Given the description of an element on the screen output the (x, y) to click on. 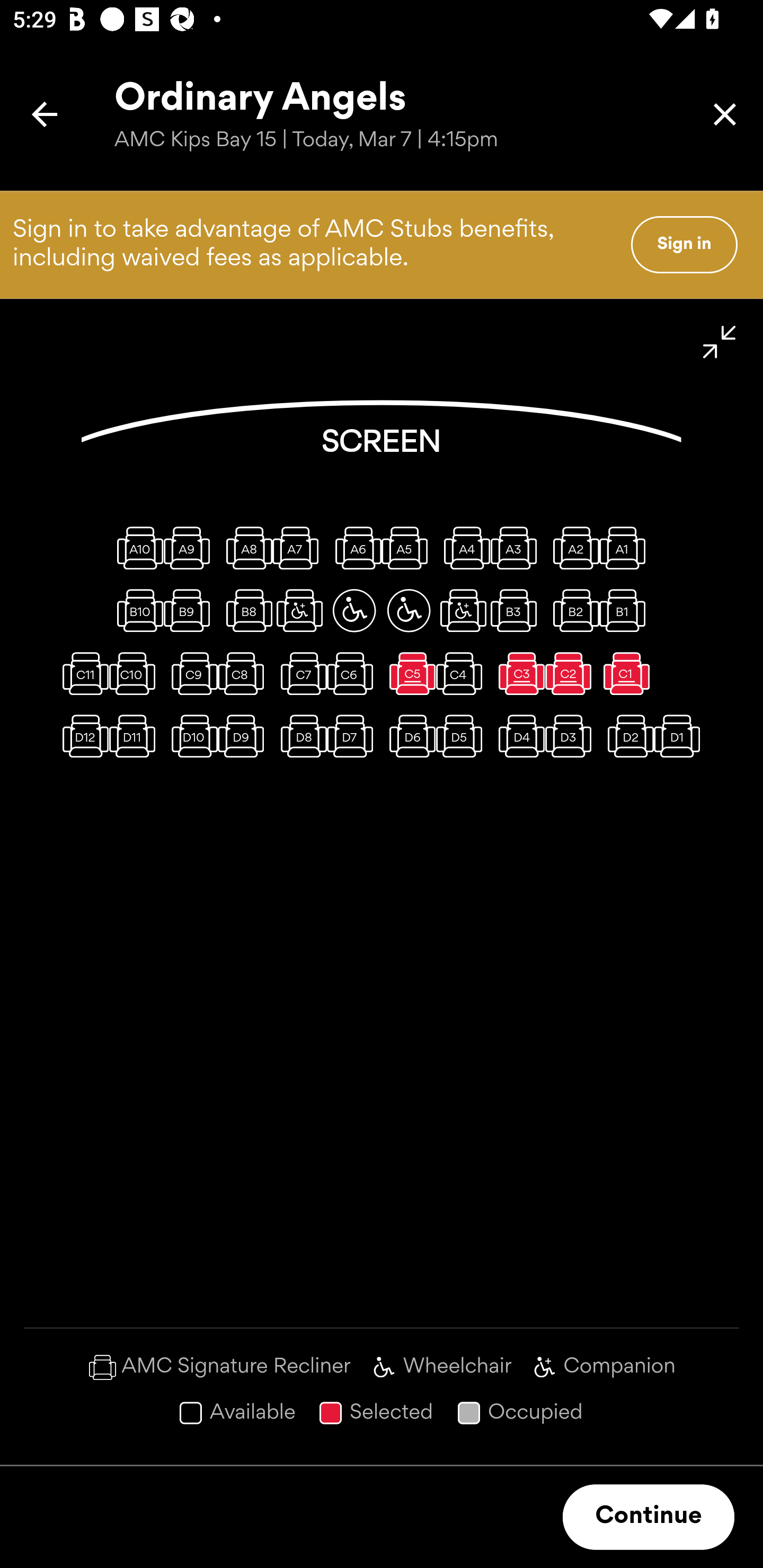
Back (44, 114)
Close (724, 114)
Sign in (684, 244)
Minimize (719, 342)
A10, Regular seat, available (136, 547)
A9, Regular seat, available (190, 547)
A8, Regular seat, available (244, 547)
A7, Regular seat, available (299, 547)
A6, Regular seat, available (353, 547)
A5, Regular seat, available (408, 547)
A4, Regular seat, available (463, 547)
A3, Regular seat, available (517, 547)
A2, Regular seat, available (571, 547)
A1, Regular seat, available (625, 547)
B10, Regular seat, available (136, 610)
B9, Regular seat, available (190, 610)
B8, Regular seat, available (244, 610)
B7, Wheelchair companion seat, available (299, 610)
B6, Wheelchair space, available (353, 610)
B5, Wheelchair space, available (408, 610)
B4, Wheelchair companion seat, available (463, 610)
B3, Regular seat, available (517, 610)
B2, Regular seat, available (571, 610)
B1, Regular seat, available (625, 610)
C11, Regular seat, available (81, 672)
C10, Regular seat, available (136, 672)
C9, Regular seat, available (190, 672)
C8, Regular seat, available (244, 672)
C7, Regular seat, available (299, 672)
C6, Regular seat, available (353, 672)
C5, Regular seat, selected (408, 672)
C4, Regular seat, available (463, 672)
C3, Regular seat, selected (517, 672)
C2, Regular seat, selected (571, 672)
C1, Regular seat, selected (625, 672)
D12, Regular seat, available (81, 736)
D11, Regular seat, available (136, 736)
D10, Regular seat, available (190, 736)
D9, Regular seat, available (244, 736)
D8, Regular seat, available (299, 736)
D7, Regular seat, available (353, 736)
D6, Regular seat, available (408, 736)
D5, Regular seat, available (463, 736)
D4, Regular seat, available (517, 736)
D3, Regular seat, available (571, 736)
D2, Regular seat, available (625, 736)
D1, Regular seat, available (680, 736)
Continue (648, 1516)
